Given the description of an element on the screen output the (x, y) to click on. 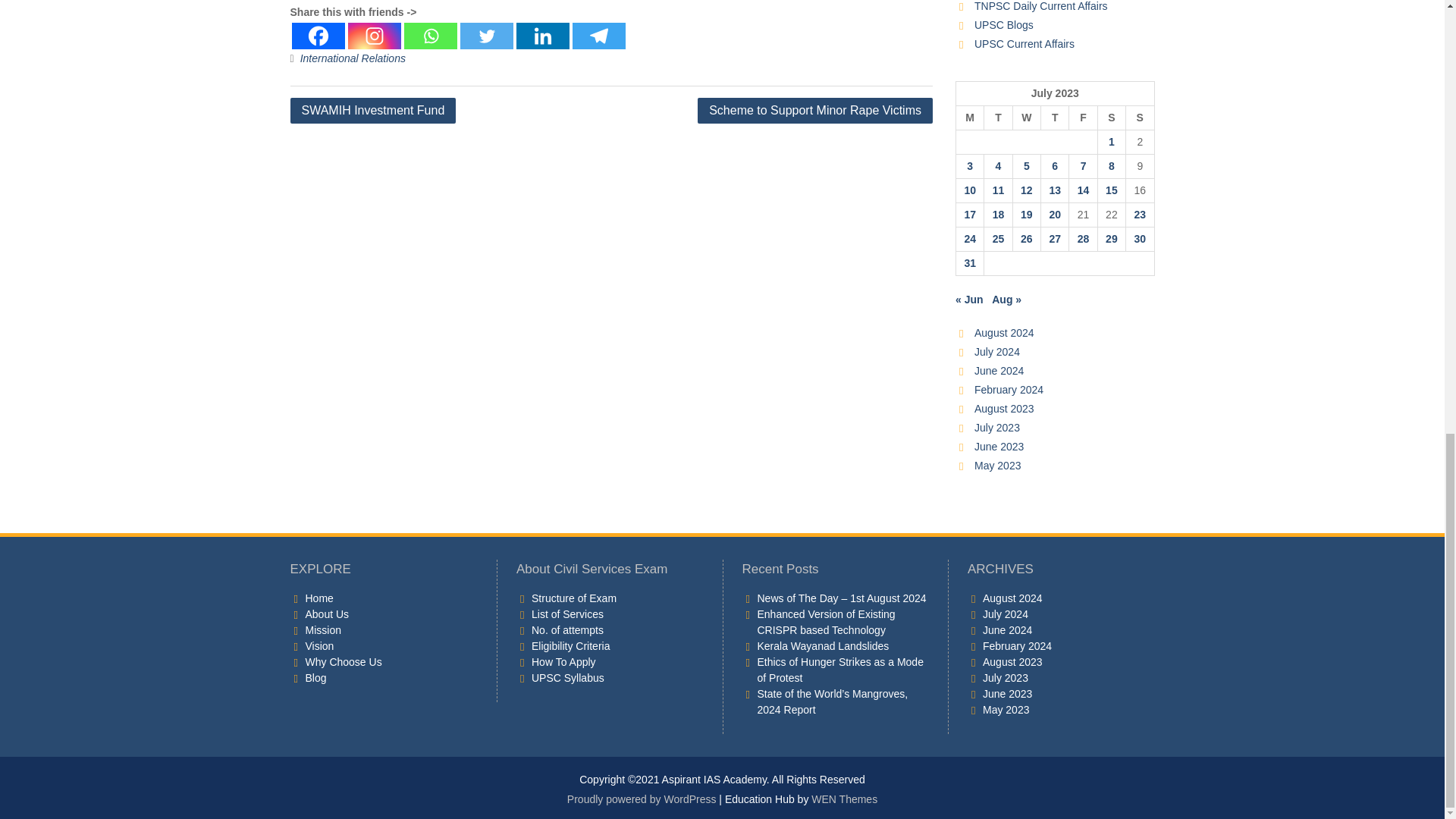
Whatsapp (430, 35)
Monday (969, 118)
Instagram (373, 35)
Saturday (1111, 118)
Telegram (598, 35)
Friday (1082, 118)
Tuesday (997, 118)
Linkedin (542, 35)
Twitter (486, 35)
Sunday (1139, 118)
Thursday (1054, 118)
Facebook (317, 35)
Wednesday (1026, 118)
